Given the description of an element on the screen output the (x, y) to click on. 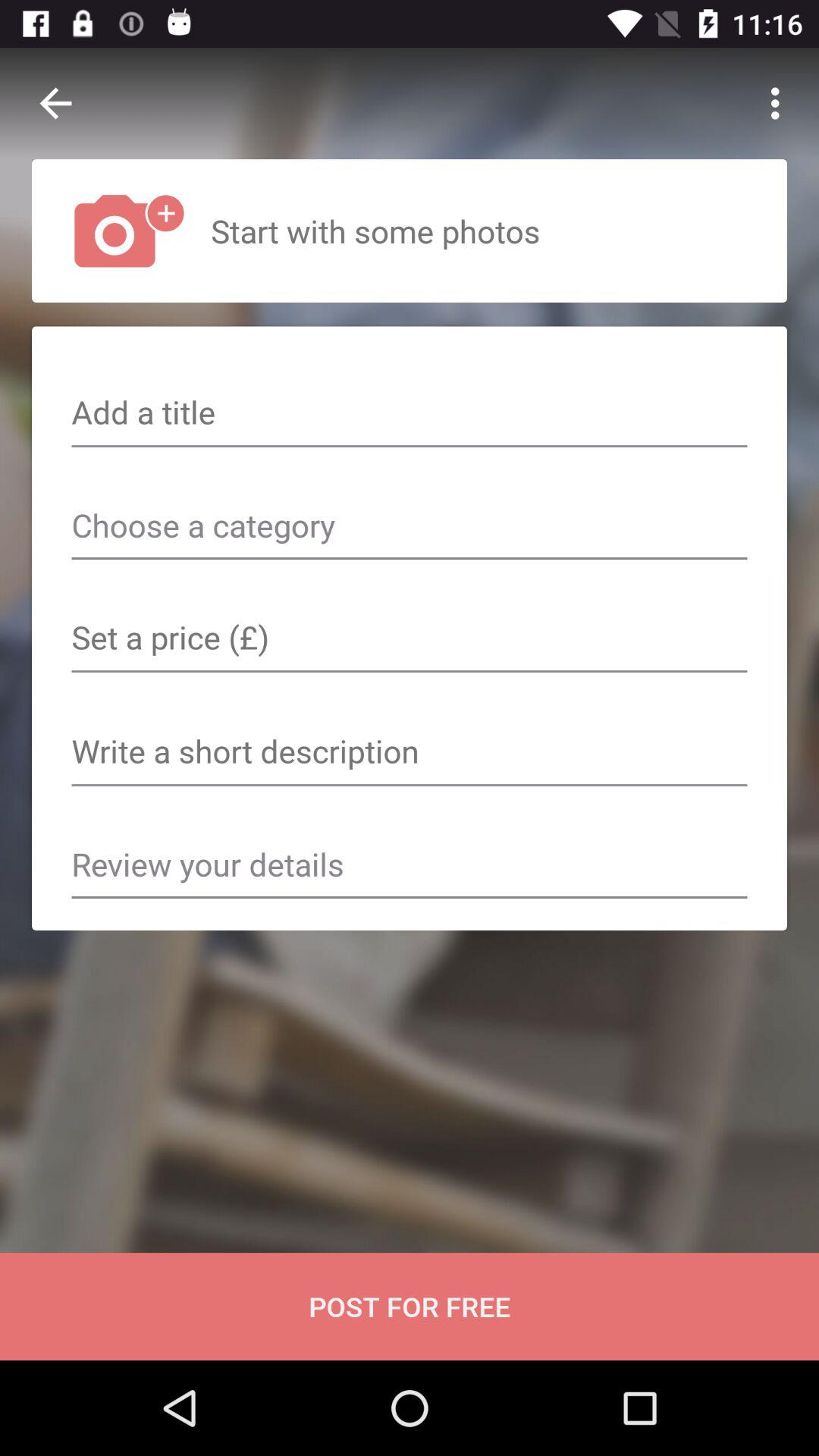
flip until post for free (409, 1306)
